Given the description of an element on the screen output the (x, y) to click on. 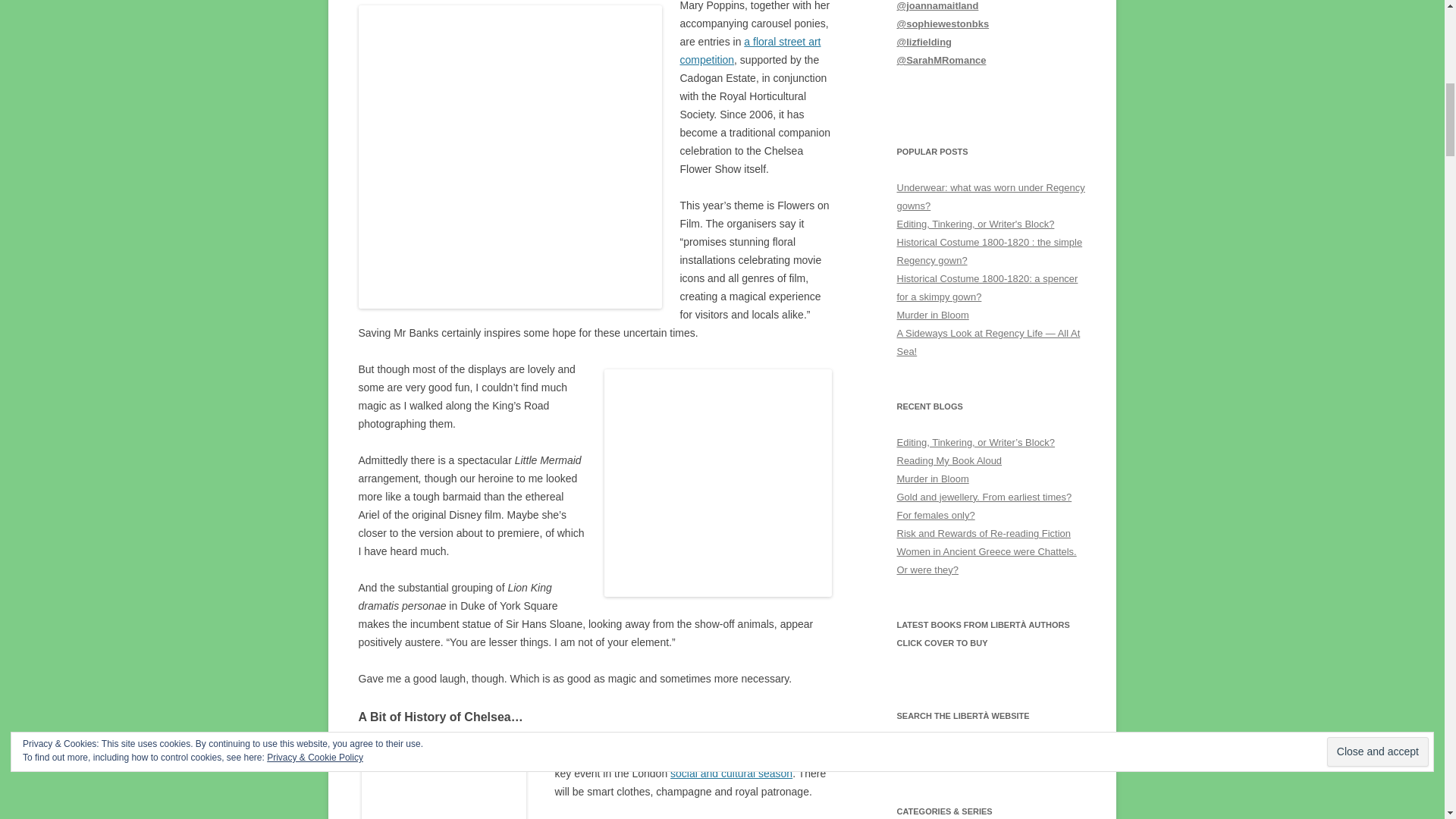
social and cultural season (730, 773)
Search (1033, 754)
a floral street art competition (750, 50)
